Given the description of an element on the screen output the (x, y) to click on. 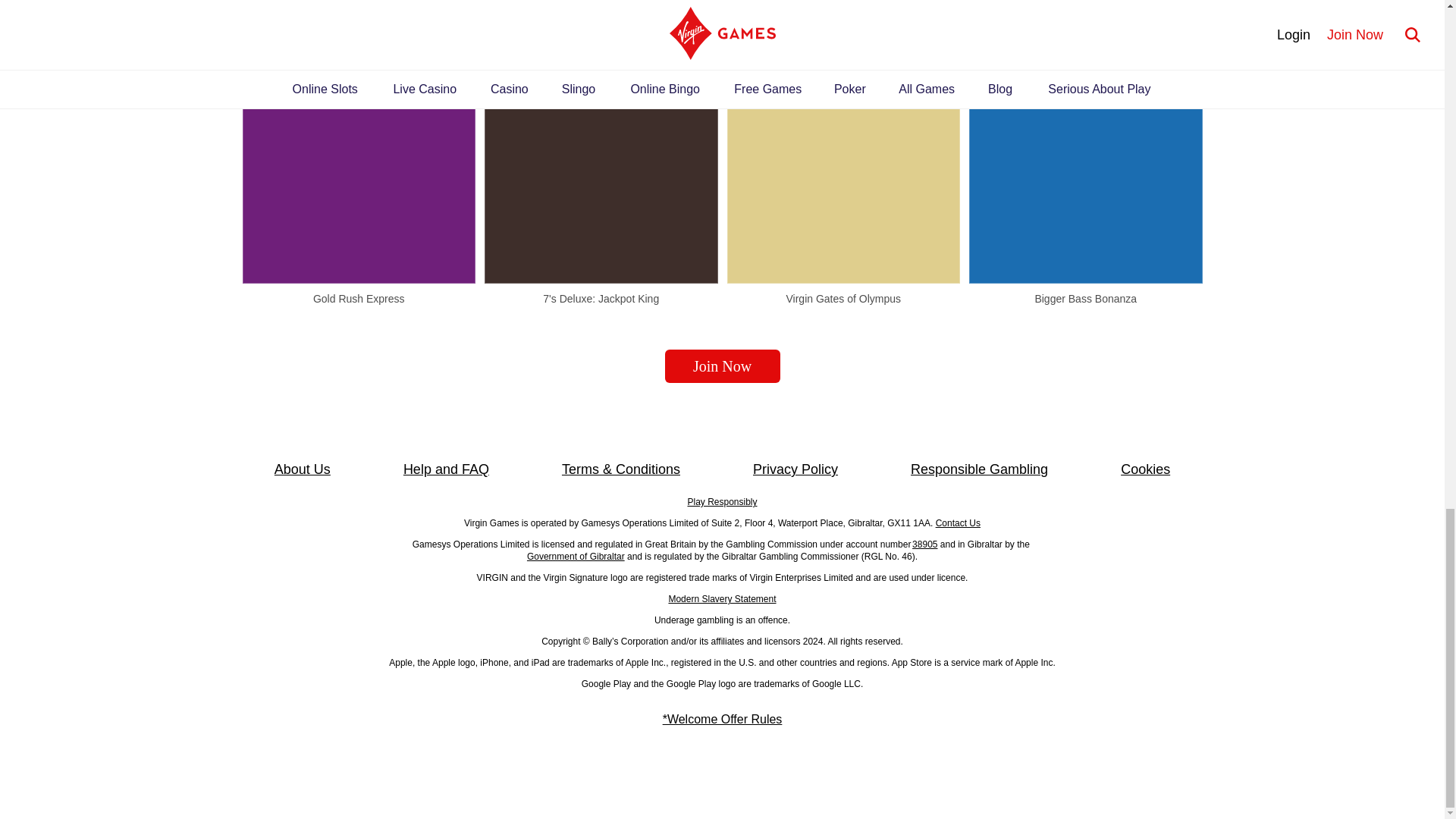
More info about Virgin Gates of Olympus (842, 165)
Cookies (1145, 469)
Join Now (720, 366)
More info about Gold Rush Express (359, 165)
Privacy Policy (795, 469)
Help and FAQ (446, 469)
Responsible Gambling (979, 469)
More info about 7's Deluxe: Jackpot King (600, 165)
More info about Bigger Bass Bonanza (1085, 165)
Join Now (720, 366)
About Us (302, 469)
